Given the description of an element on the screen output the (x, y) to click on. 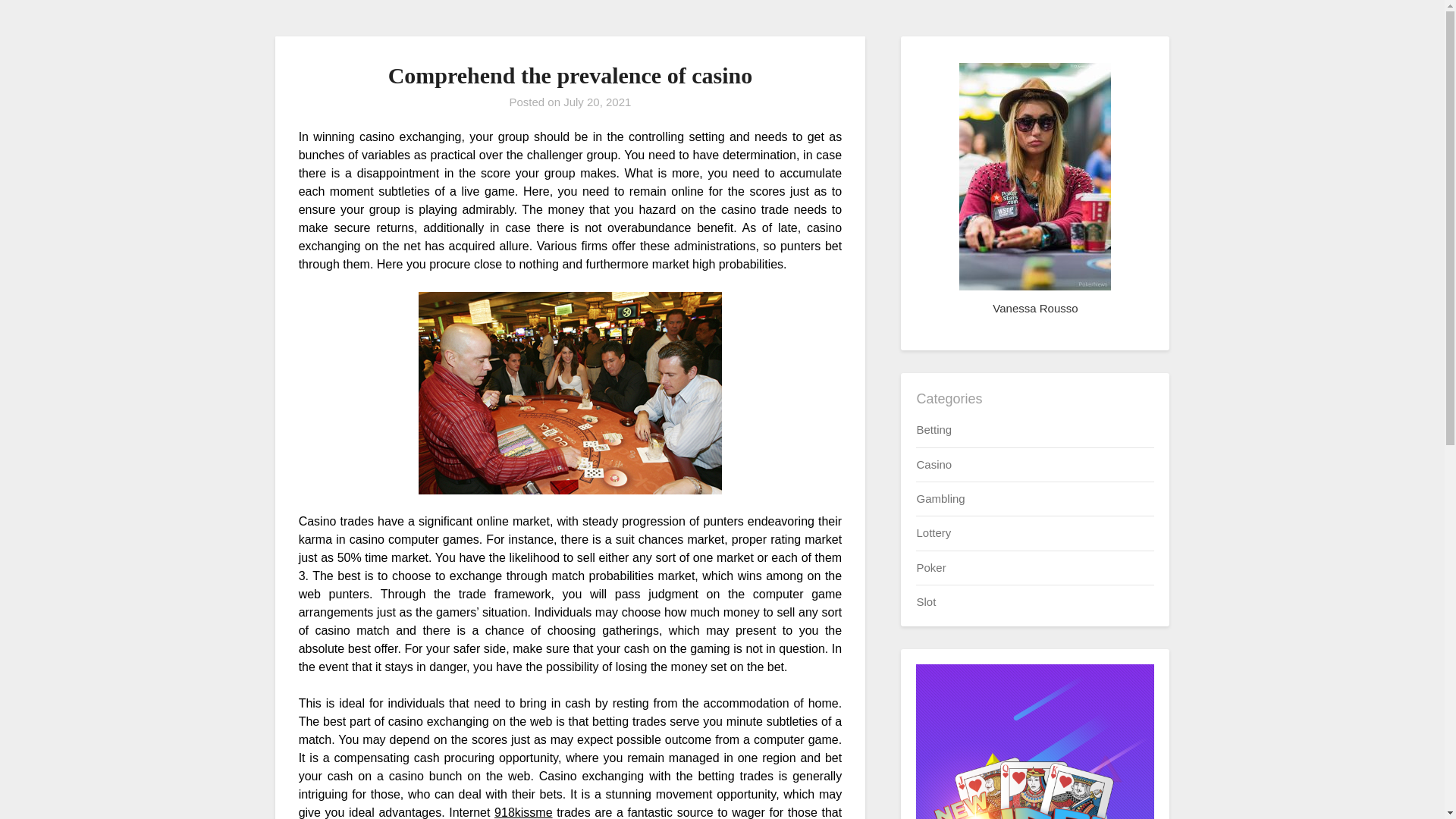
918kissme (523, 812)
Betting (933, 429)
Casino (933, 463)
July 20, 2021 (596, 101)
Poker (929, 567)
Gambling (939, 498)
Lottery (932, 532)
Slot (925, 601)
